Given the description of an element on the screen output the (x, y) to click on. 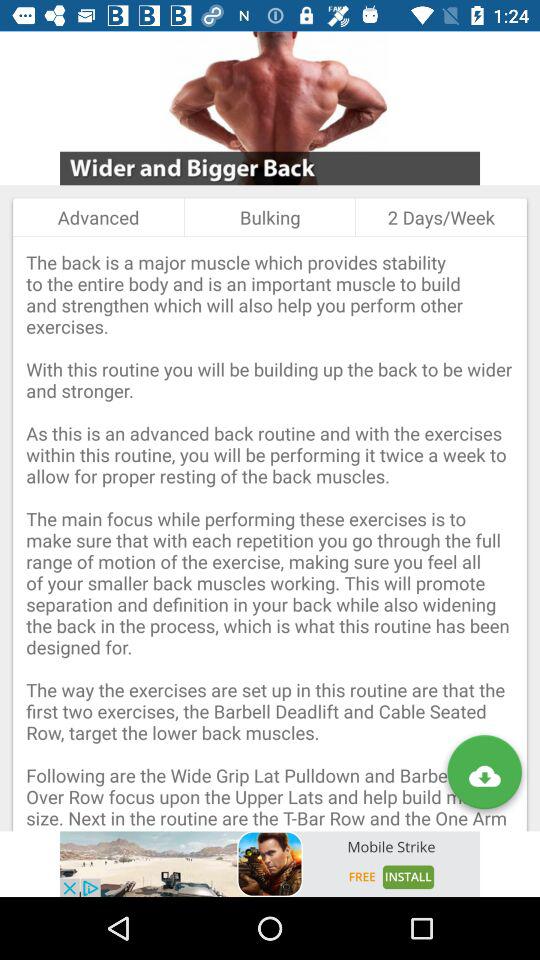
download article button (484, 775)
